Given the description of an element on the screen output the (x, y) to click on. 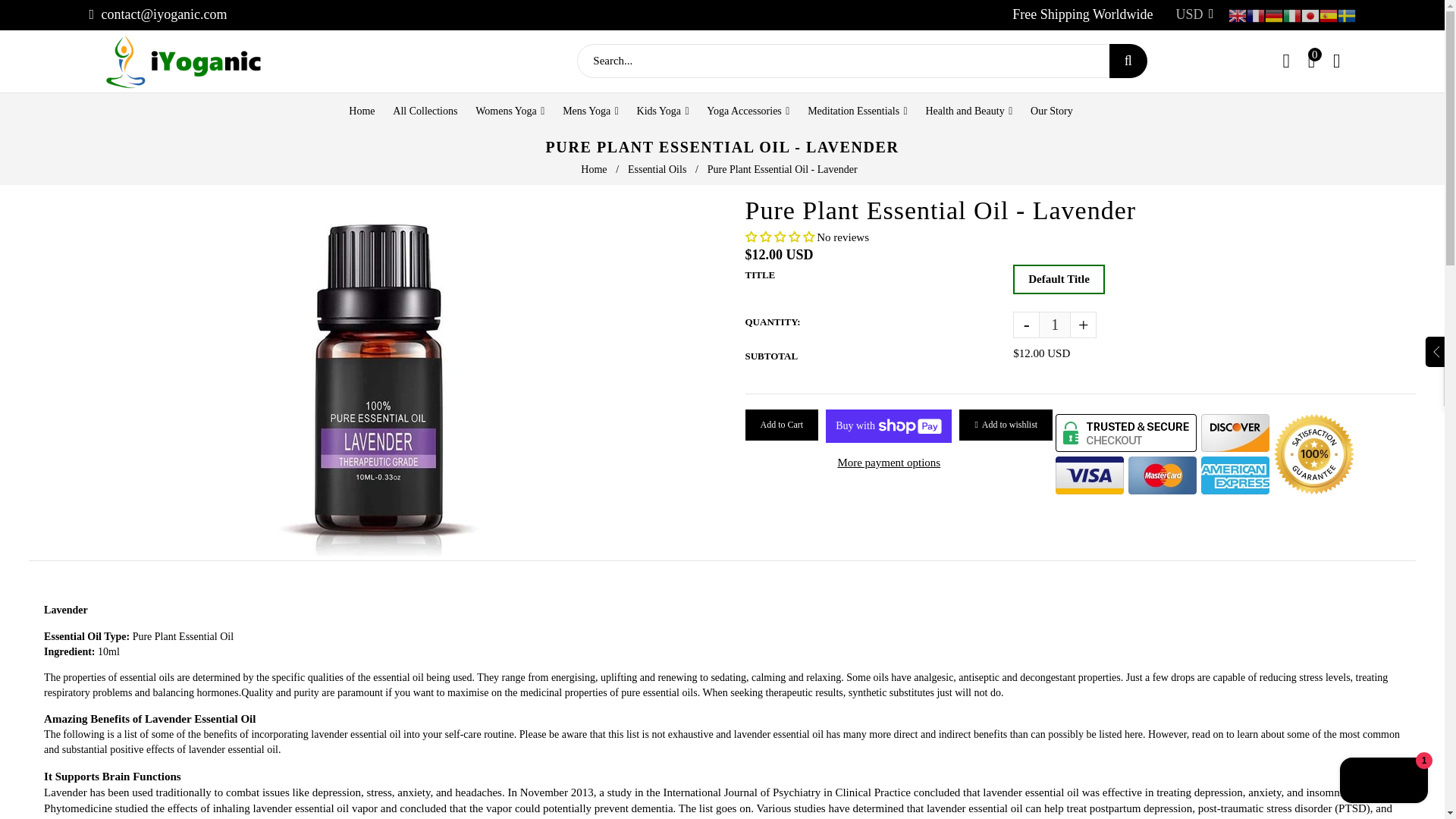
Womens Yoga (509, 111)
Swedish (1346, 14)
Back to the frontpage (595, 169)
Kids Yoga (662, 111)
Spanish (1328, 14)
1 (1054, 325)
English (1237, 14)
Shopify online store chat (1383, 781)
Japanese (1310, 14)
Mens Yoga (590, 111)
Free Shipping Worldwide (1082, 14)
Italian (1291, 14)
German (1273, 14)
All Collections (424, 111)
French (1255, 14)
